Given the description of an element on the screen output the (x, y) to click on. 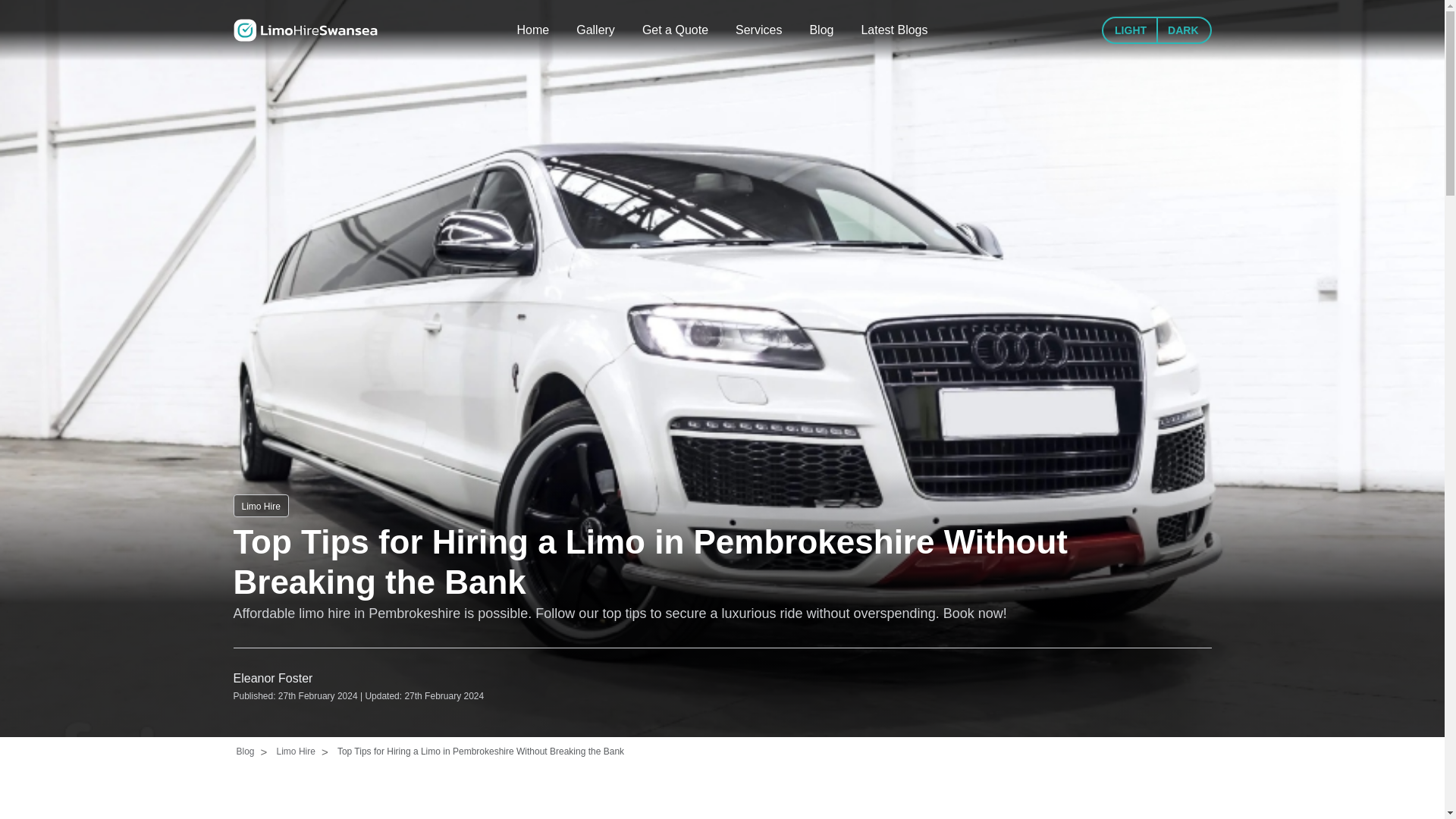
Latest Blogs (893, 30)
Latest Blogs (893, 30)
Get a Quote (674, 30)
Limo Hire Swansea (304, 30)
Get a Quote (674, 30)
